Given the description of an element on the screen output the (x, y) to click on. 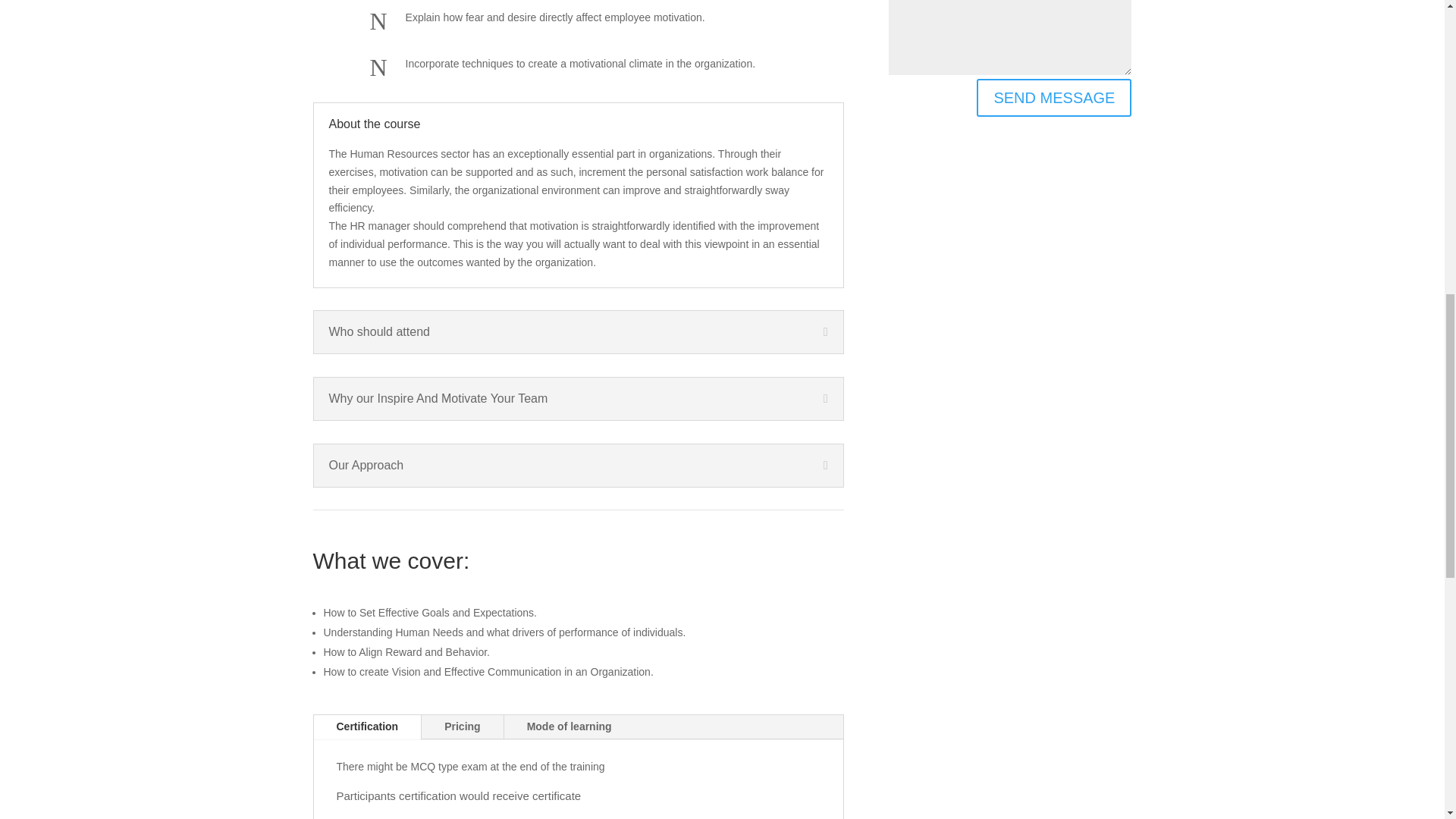
Certification (368, 726)
Mode of learning (568, 726)
Pricing (462, 726)
SEND MESSAGE (1053, 97)
